Given the description of an element on the screen output the (x, y) to click on. 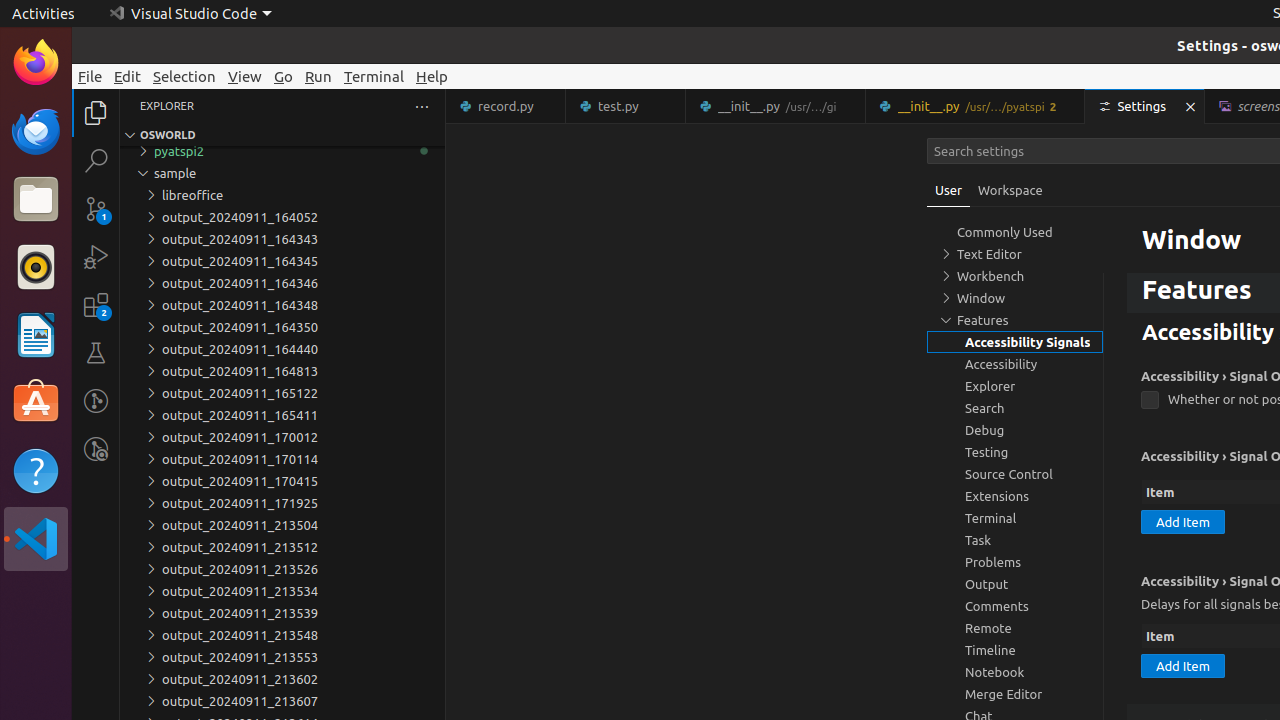
Comments, group Element type: tree-item (1015, 606)
output_20240911_164350 Element type: tree-item (282, 327)
Explorer Section: osworld Element type: push-button (282, 135)
Add Item Element type: push-button (1183, 522)
